Given the description of an element on the screen output the (x, y) to click on. 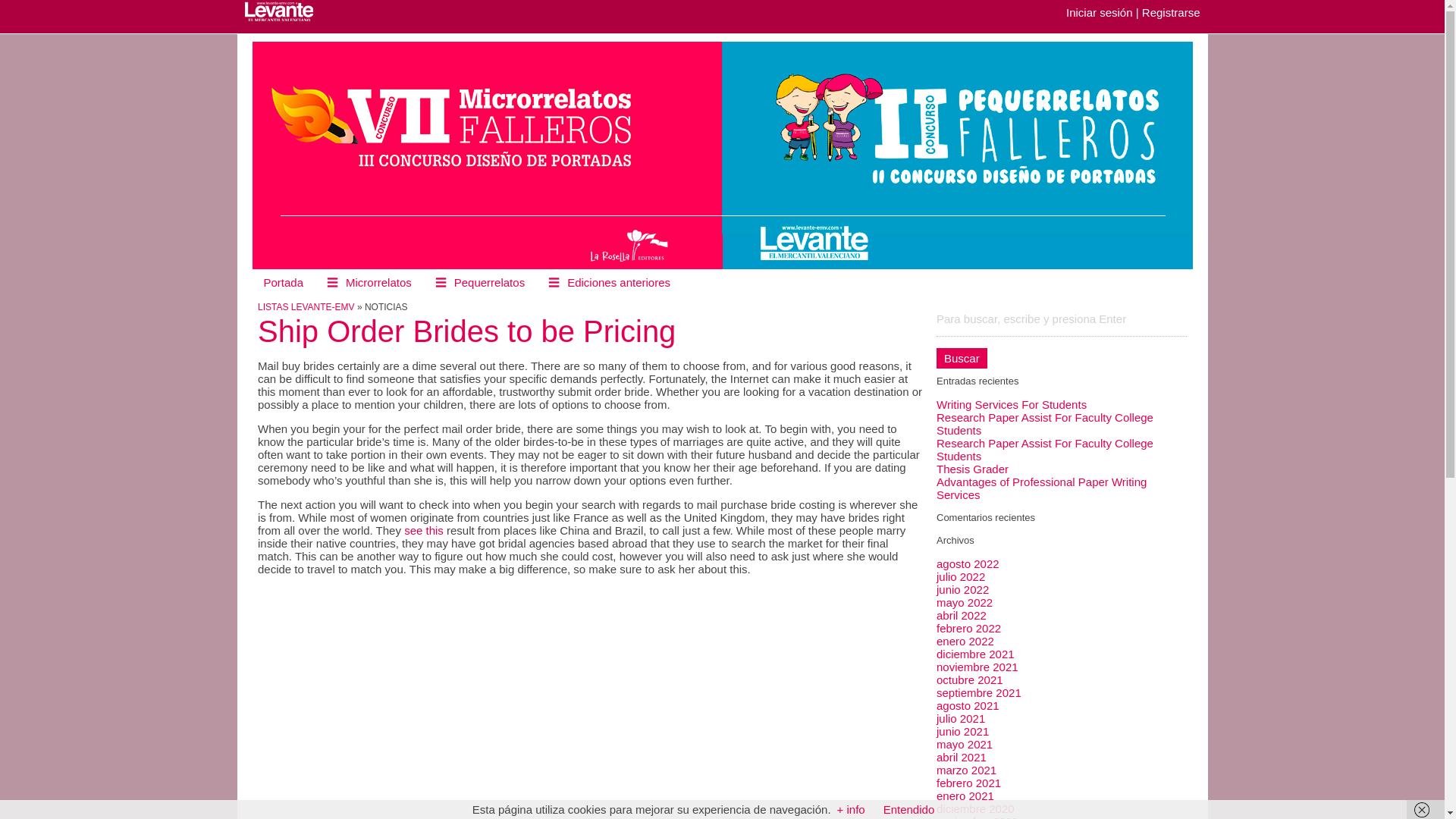
Research Paper Assist For Faculty College Students (1044, 449)
LISTAS LEVANTE-EMV (306, 307)
diciembre 2021 (975, 653)
octubre 2021 (969, 679)
mayo 2022 (964, 602)
Ship Order Brides to be Pricing (466, 331)
abril 2022 (961, 615)
noviembre 2021 (976, 666)
Research Paper Assist For Faculty College Students (1044, 423)
Portada (282, 282)
